Given the description of an element on the screen output the (x, y) to click on. 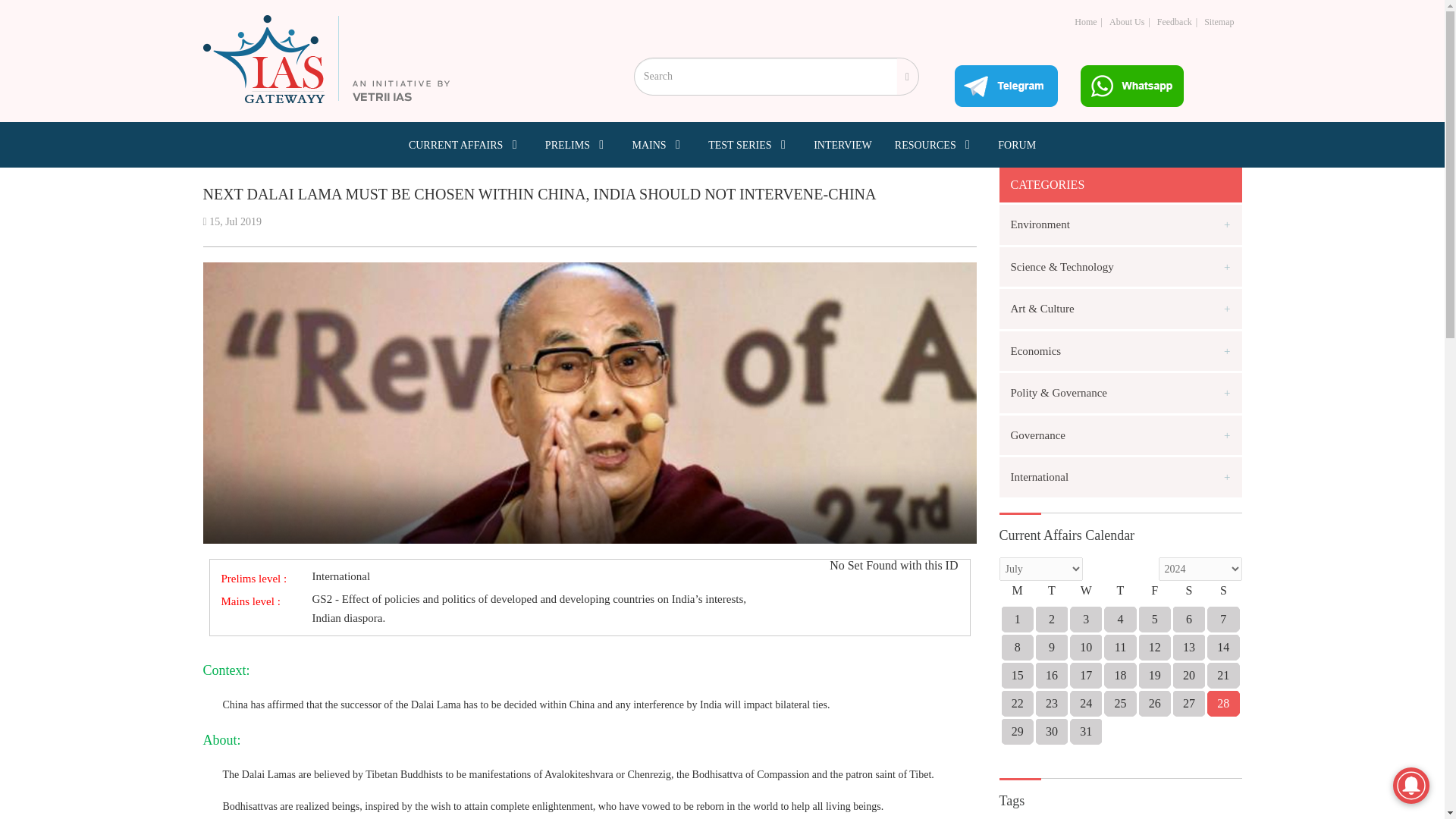
MAINS (658, 144)
International (1119, 477)
Saturday (1188, 594)
Friday (1154, 594)
Sitemap (1218, 21)
Environment (1119, 224)
Tuesday (1050, 594)
Feedback (1174, 21)
Monday (1016, 594)
Wednesday (1085, 594)
IAS Gatewayy (326, 59)
Governance (1119, 435)
TEST SERIES (748, 144)
About Us (1126, 21)
Home (1085, 21)
